Given the description of an element on the screen output the (x, y) to click on. 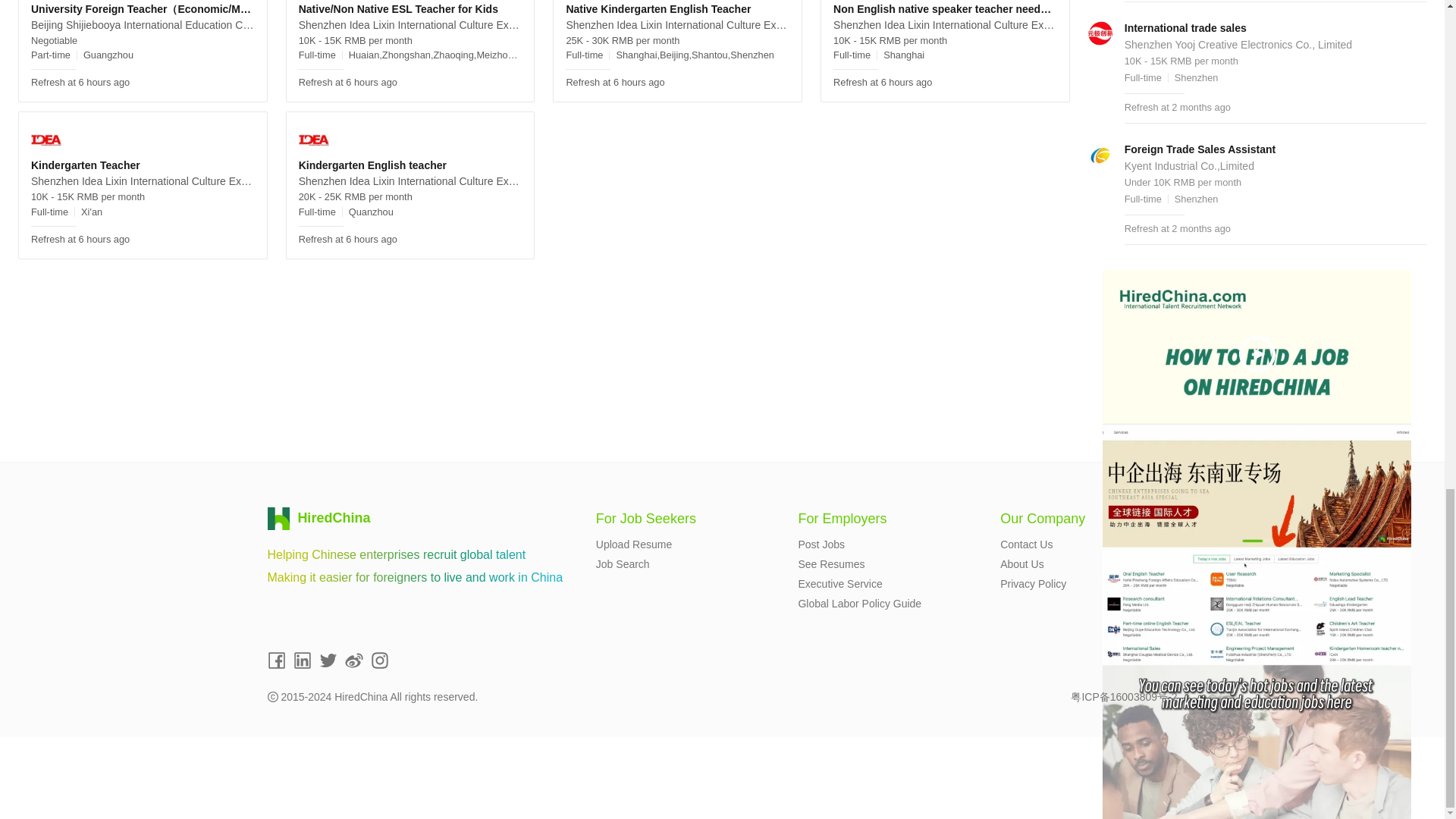
weibo (353, 660)
Executive Service (839, 583)
See Resumes (830, 563)
twitter (327, 660)
Upload Resume (633, 544)
hiredchina (319, 517)
facebook (276, 660)
About Us (1021, 563)
Global Labor Policy Guide (859, 603)
Post Jobs (820, 544)
Job Search  (622, 563)
Privacy Policy (1032, 583)
instagram (379, 660)
